Given the description of an element on the screen output the (x, y) to click on. 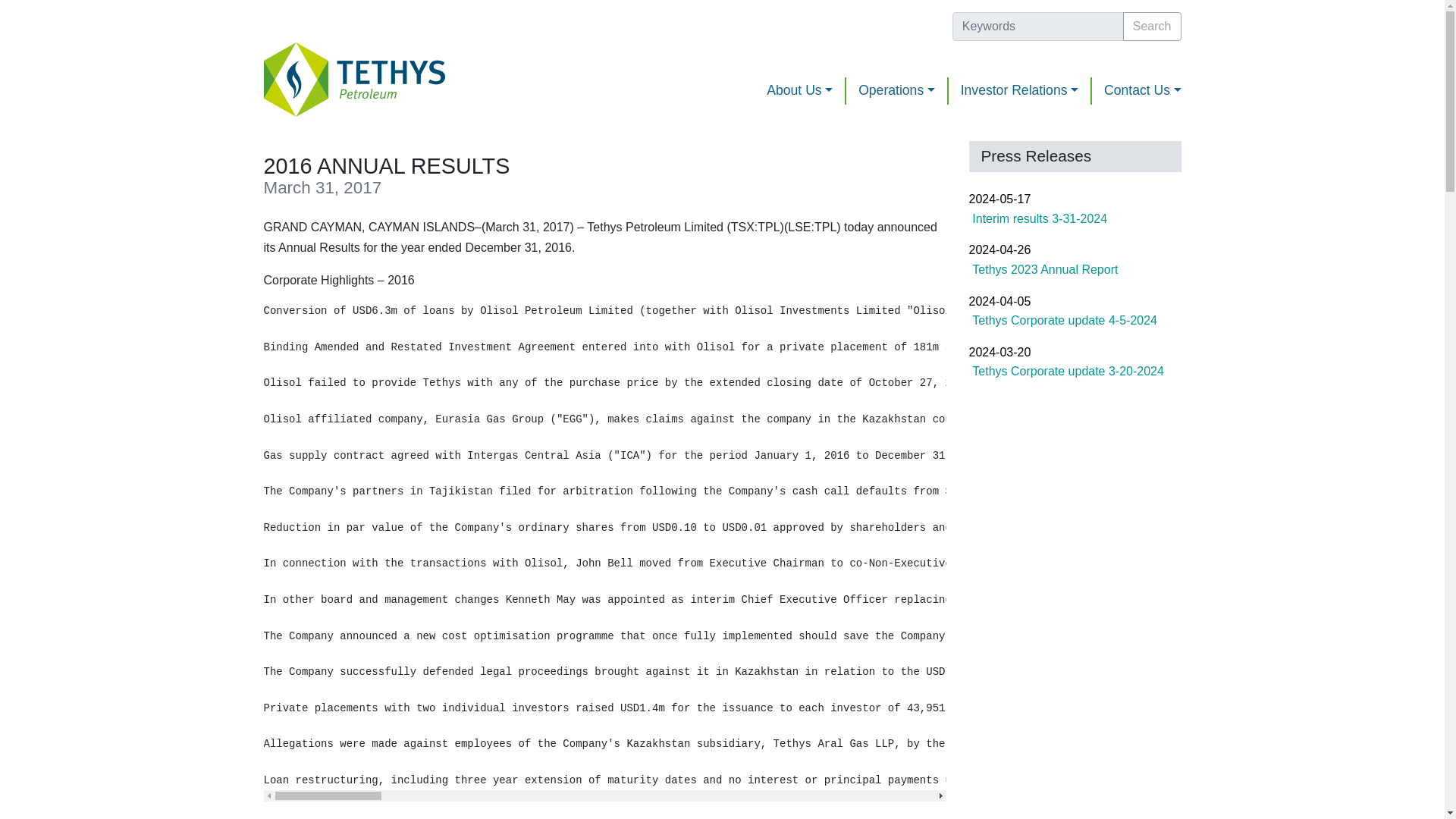
Tethys Corporate update 3-20-2024 (1074, 371)
About Us (799, 90)
Investor Relations (1020, 90)
Tethys 2023 Annual Report (1074, 269)
Operations (897, 90)
Contact Us (1136, 90)
Tethys Corporate update 4-5-2024 (1074, 321)
Interim results 3-31-2024 (1074, 218)
Search (1151, 26)
Search (1151, 26)
